Given the description of an element on the screen output the (x, y) to click on. 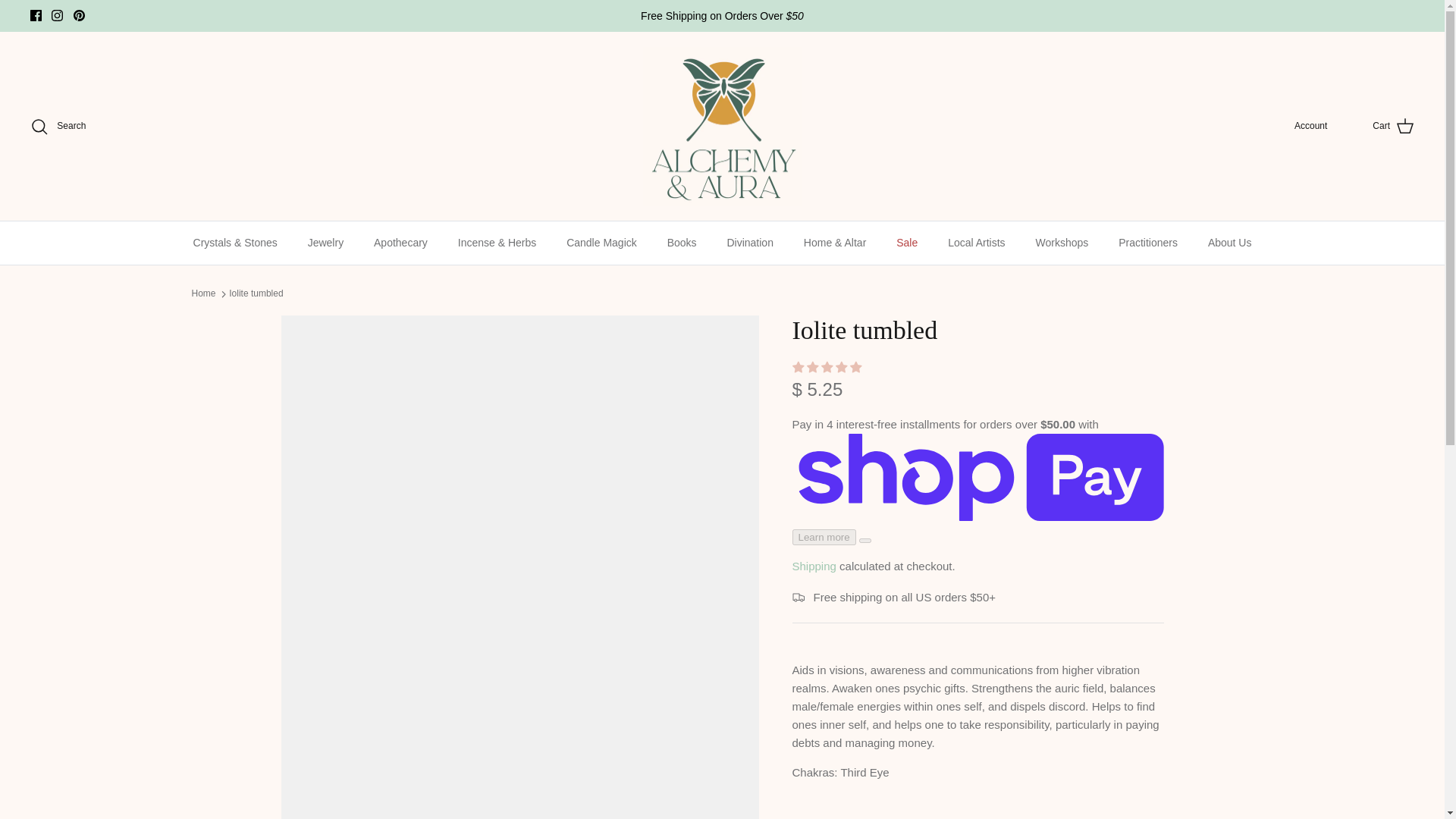
Pinterest (79, 15)
Pinterest (79, 15)
Facebook (36, 15)
Instagram (56, 15)
Facebook (36, 15)
Search (57, 126)
Cart (1393, 126)
Instagram (56, 15)
Account (1310, 125)
